Given the description of an element on the screen output the (x, y) to click on. 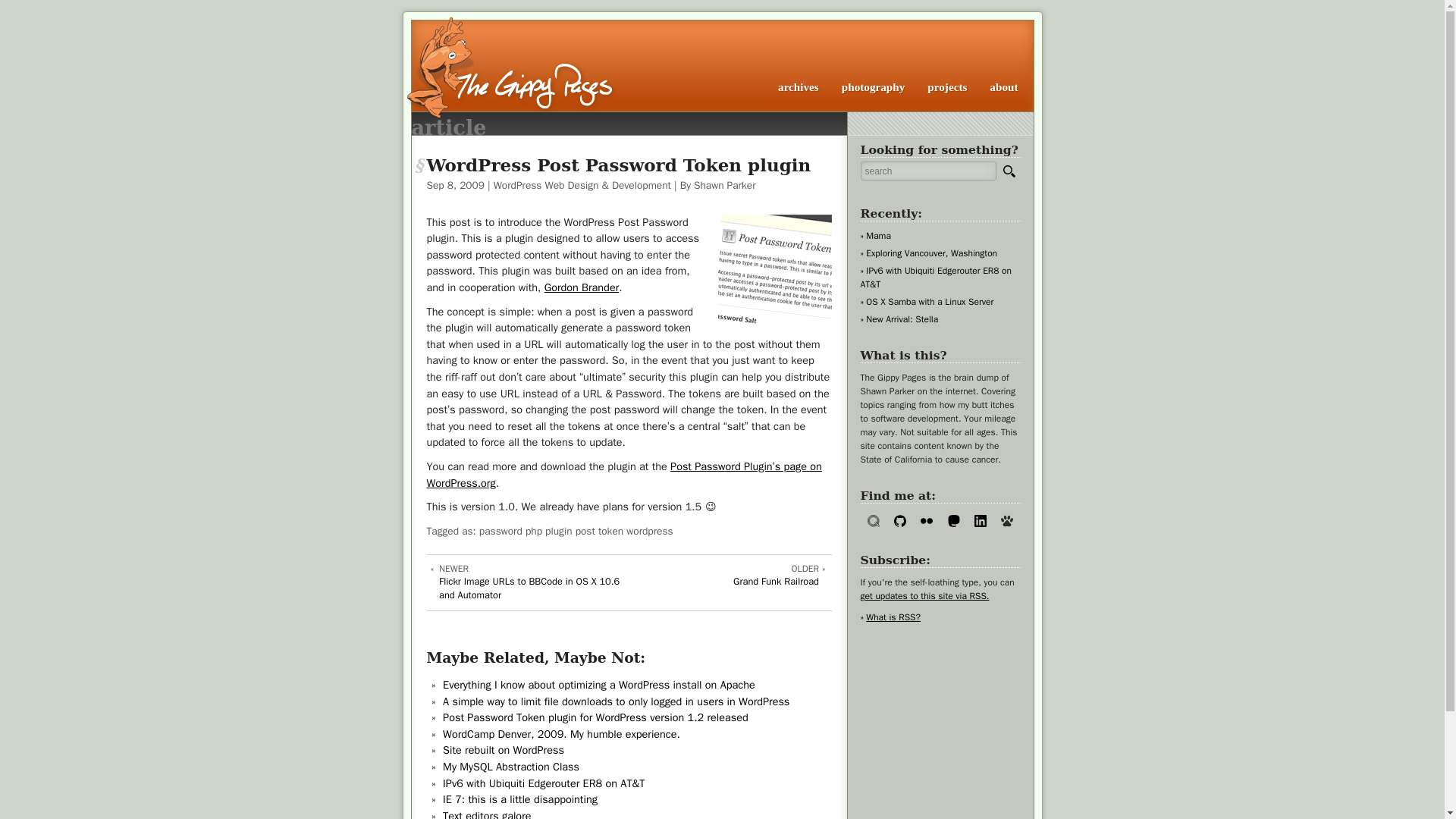
IE 7: this is a little disappointing (724, 582)
OS X Samba with a Linux Server (519, 798)
My MySQL Abstraction Class (926, 301)
Exploring Vancouver, Washington (510, 766)
photography (531, 582)
about (928, 253)
Site rebuilt on WordPress (873, 86)
get updates to this site via RSS. (1003, 86)
archives (503, 749)
New Arrival: Stella (924, 595)
